Given the description of an element on the screen output the (x, y) to click on. 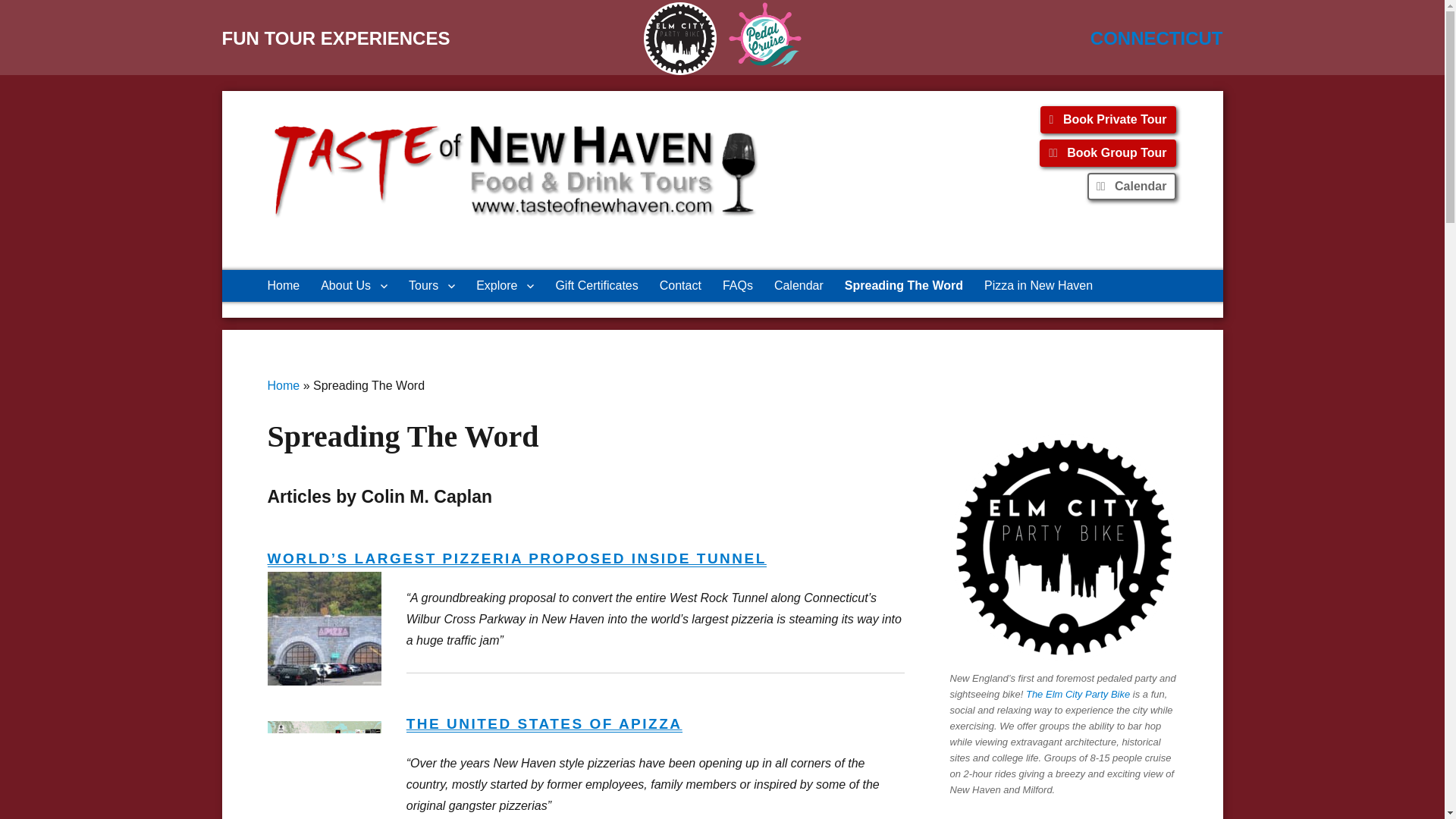
CONNECTICUT (1156, 37)
Calendar (1131, 185)
Calendar (798, 286)
About Us (353, 286)
Book Group Tour (1106, 153)
Pedal Cruise CT (764, 34)
Home (282, 385)
THE UNITED STATES OF APIZZA (544, 723)
Tours (431, 286)
Taste of New Haven (365, 249)
